Given the description of an element on the screen output the (x, y) to click on. 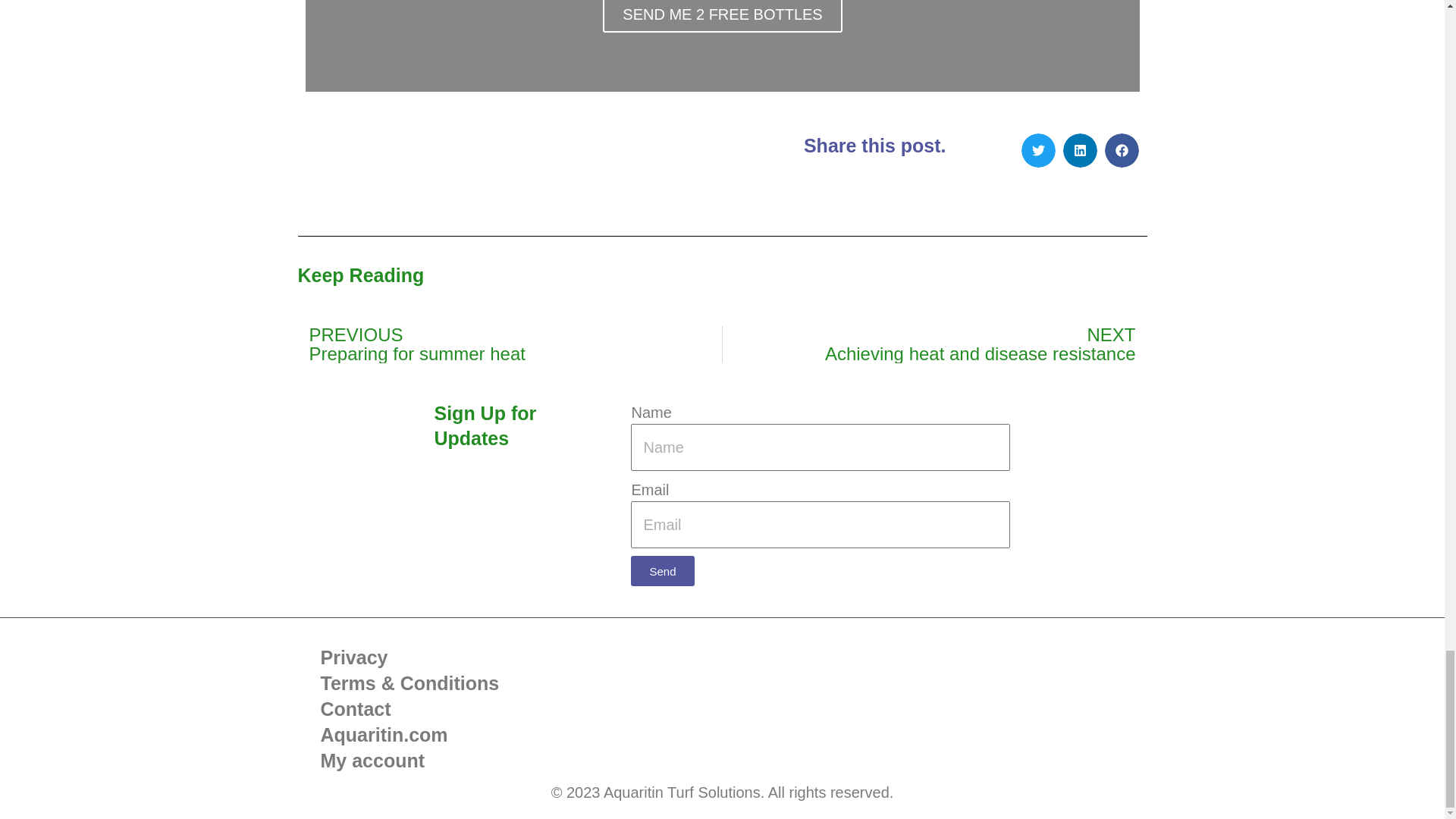
SEND ME 2 FREE BOTTLES (934, 344)
